Given the description of an element on the screen output the (x, y) to click on. 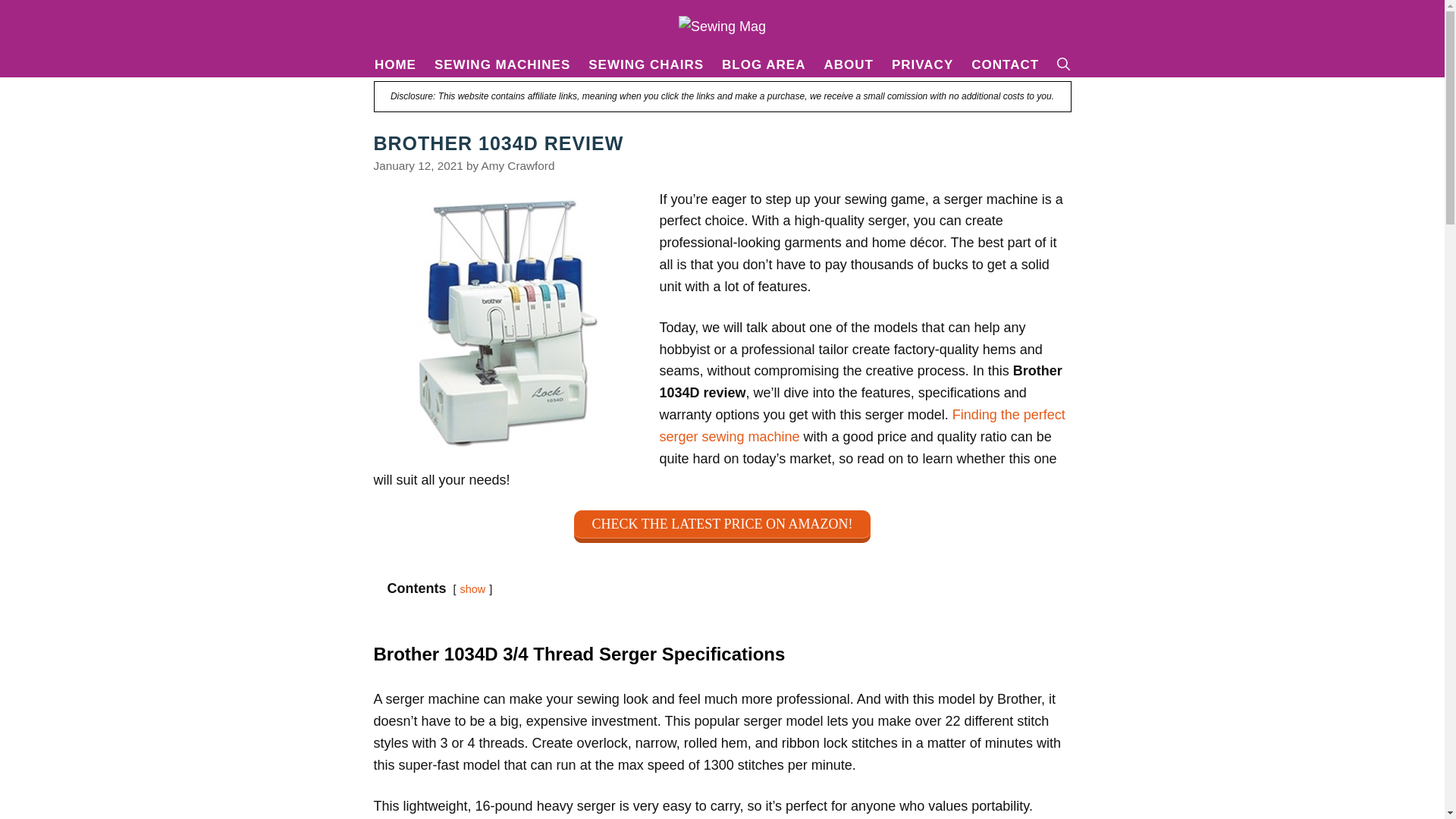
Amy Crawford (517, 164)
SEWING MACHINES (502, 64)
show (473, 589)
SEWING CHAIRS (646, 64)
Finding the perfect serger sewing machine (862, 425)
ABOUT (847, 64)
Sewing Mag (721, 26)
Sewing Mag (721, 25)
CHECK THE LATEST PRICE ON AMAZON! (721, 526)
PRIVACY (922, 64)
